Given the description of an element on the screen output the (x, y) to click on. 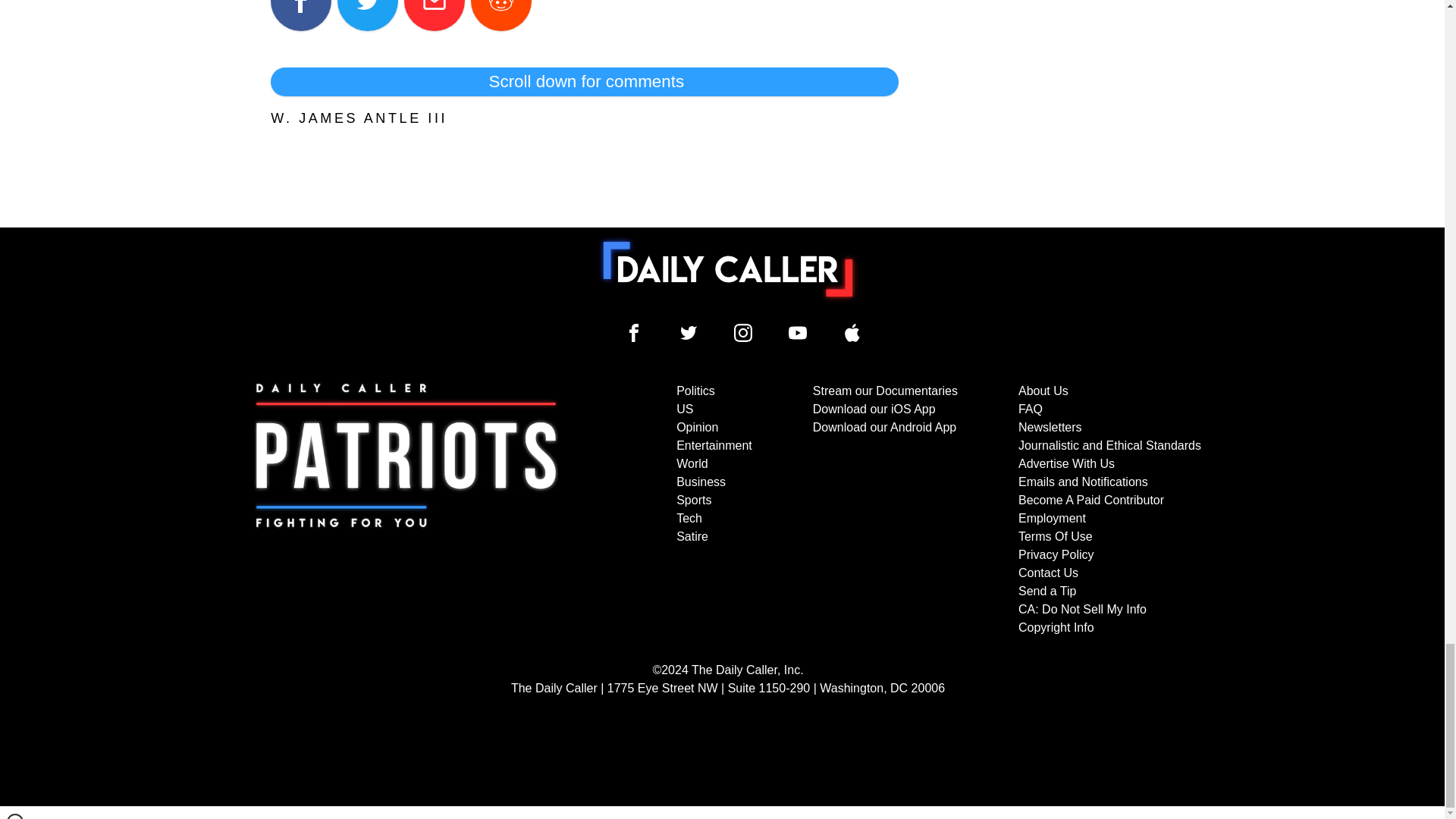
Daily Caller YouTube (797, 332)
Subscribe to The Daily Caller (405, 509)
Daily Caller YouTube (852, 332)
Scroll down for comments (584, 81)
Daily Caller Facebook (633, 332)
Daily Caller Instagram (742, 332)
To home page (727, 268)
Daily Caller Twitter (688, 332)
